Given the description of an element on the screen output the (x, y) to click on. 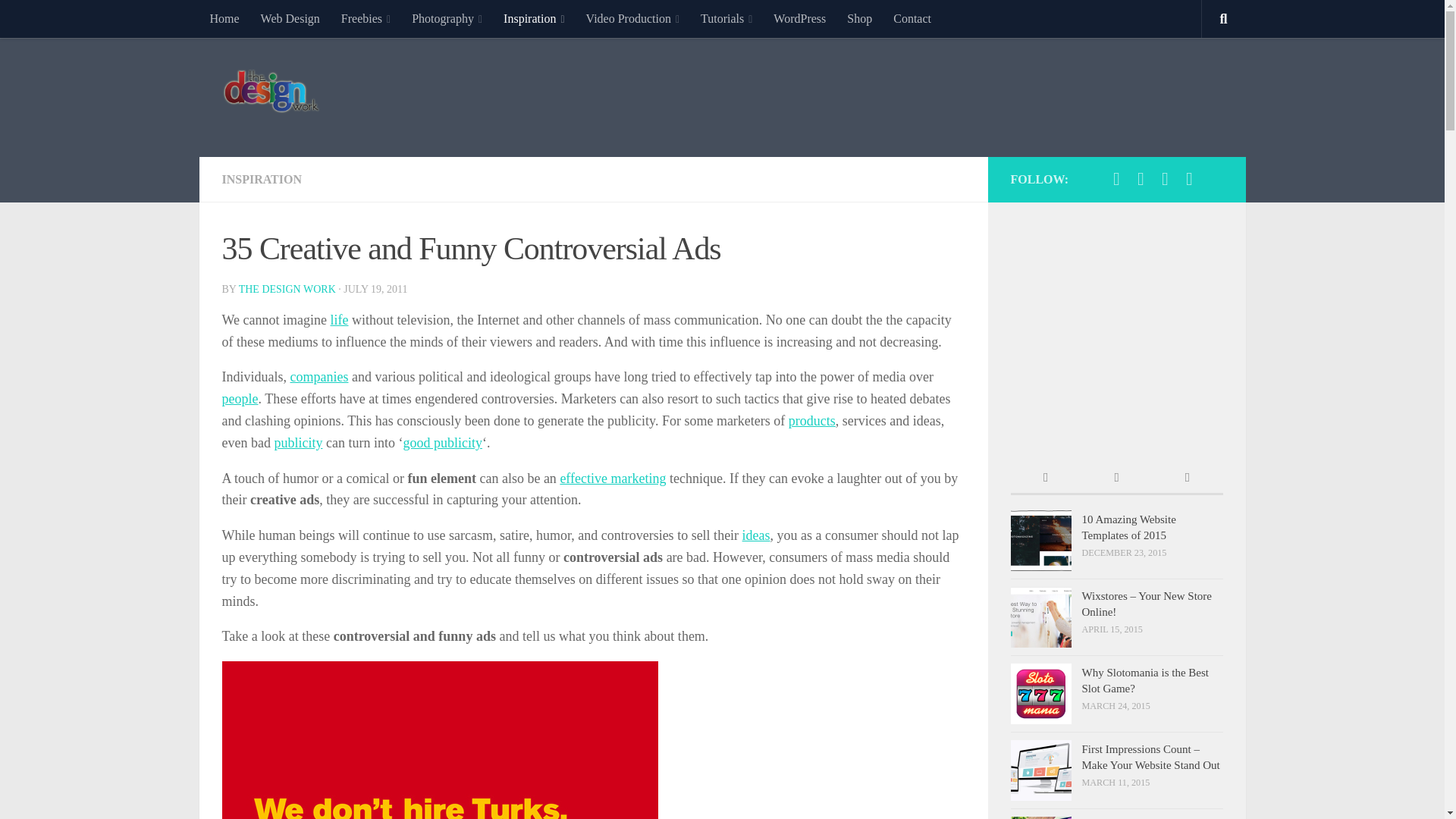
Skip to content (59, 20)
Creative and Funny Controversial Ads (439, 739)
Inspiration (534, 18)
Colors of Life by Rarindra Prakarsa (339, 319)
Advertisement (946, 94)
Home (223, 18)
Photography (447, 18)
Portraiture Photography By Famous Photographers (239, 398)
Web Design (290, 18)
Simple and Clean Advertisement Designs (297, 442)
Top Web Design Companies Websites (318, 376)
Freebies (365, 18)
Posts by The Design Work (287, 288)
